Given the description of an element on the screen output the (x, y) to click on. 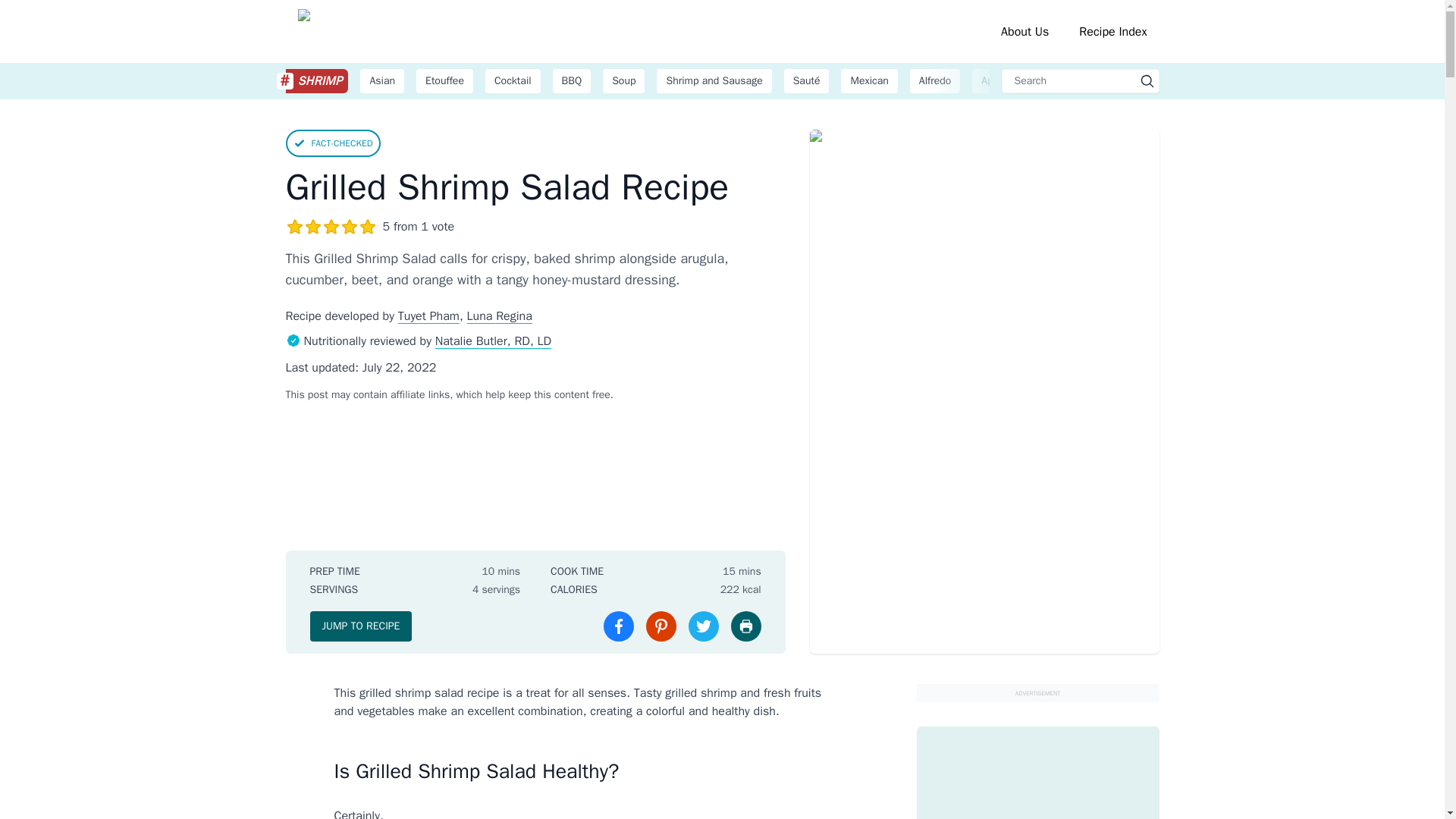
shrimp (316, 81)
Soup (623, 80)
Recipe Index (1112, 31)
Healthy Recipes 101 (448, 31)
Mexican (868, 80)
Shrimp and Sausage (713, 80)
JUMP TO RECIPE (360, 625)
Soup (623, 80)
affiliate links (419, 394)
BBQ (572, 80)
Etouffee (444, 80)
Mexican (868, 80)
Natalie Butler, RD, LD (493, 340)
BBQ (572, 80)
Cocktail (512, 80)
